Given the description of an element on the screen output the (x, y) to click on. 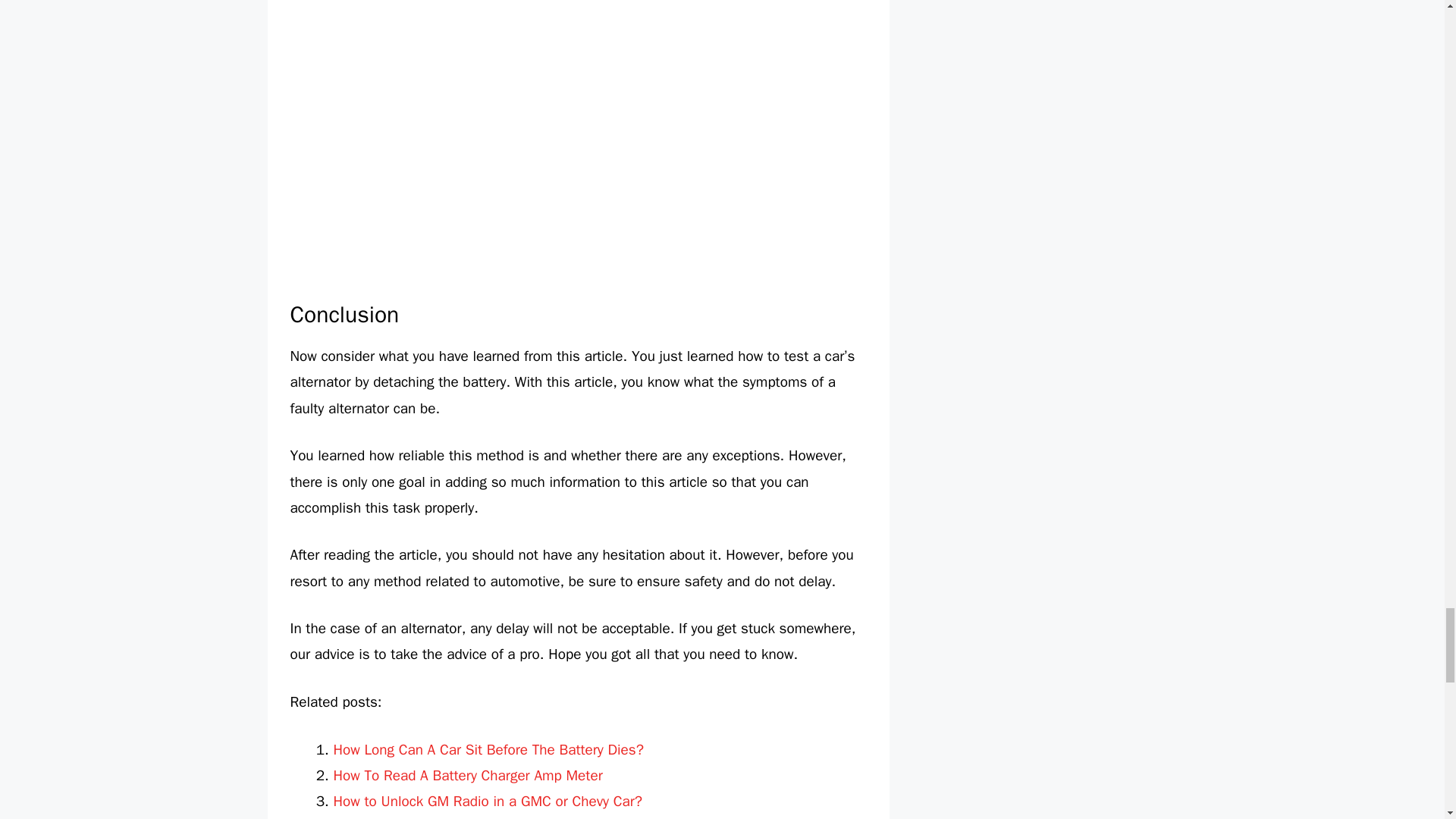
How To Read A Battery Charger Amp Meter (467, 775)
How Long Can A Car Sit Before The Battery Dies? (488, 750)
How to Unlock GM Radio in a GMC or Chevy Car? (488, 801)
